Given the description of an element on the screen output the (x, y) to click on. 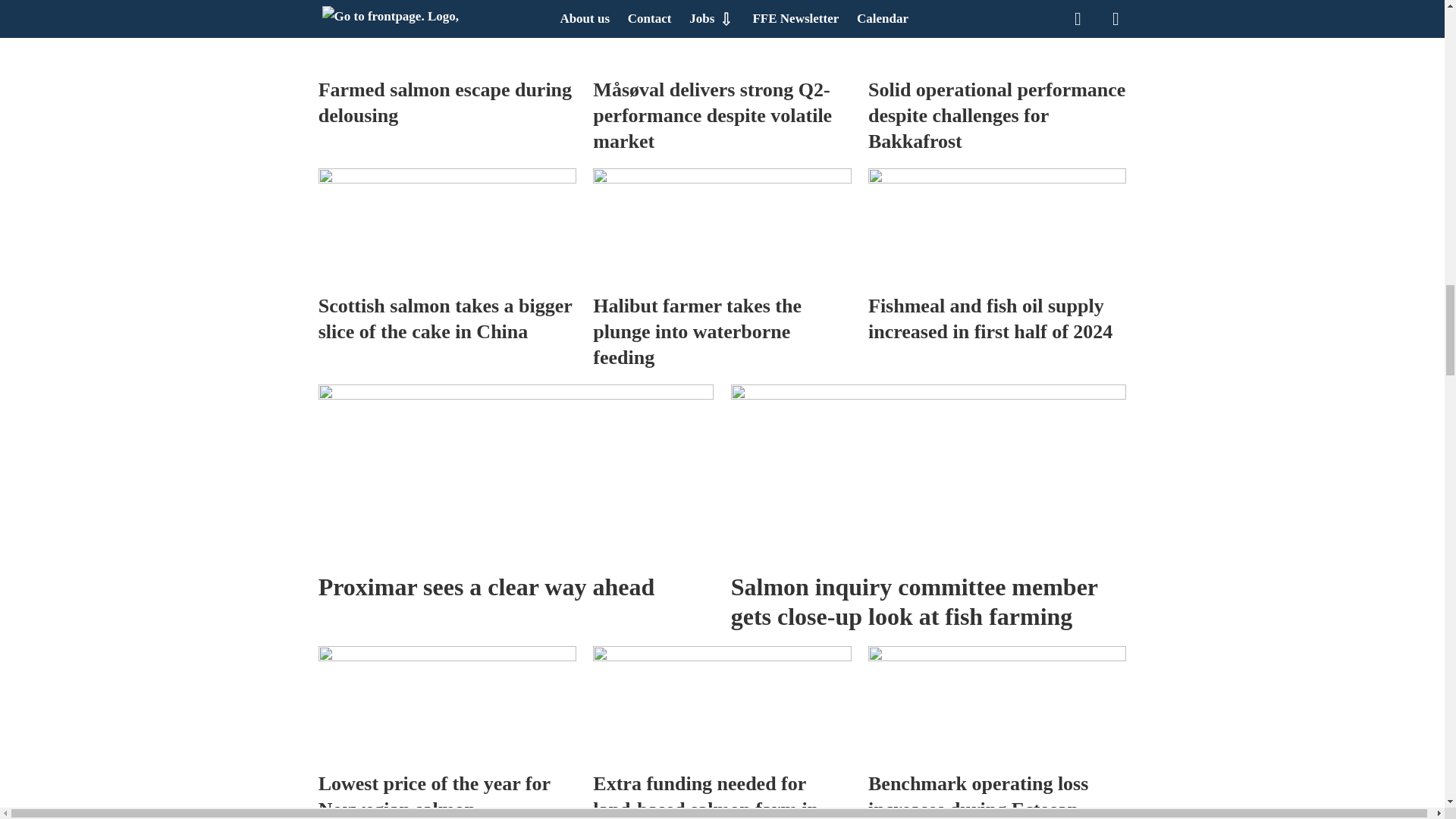
Halibut farmer takes the plunge into waterborne feeding (721, 226)
Fishmeal and fish oil supply increased in first half of 2024 (996, 226)
Scottish salmon takes a bigger slice of the cake in China (447, 226)
Proximar sees a clear way ahead (516, 473)
Lowest price of the year for Norwegian salmon (447, 704)
Extra funding needed for land-based salmon farm in China (721, 704)
Farmed salmon escape during delousing (447, 34)
